Given the description of an element on the screen output the (x, y) to click on. 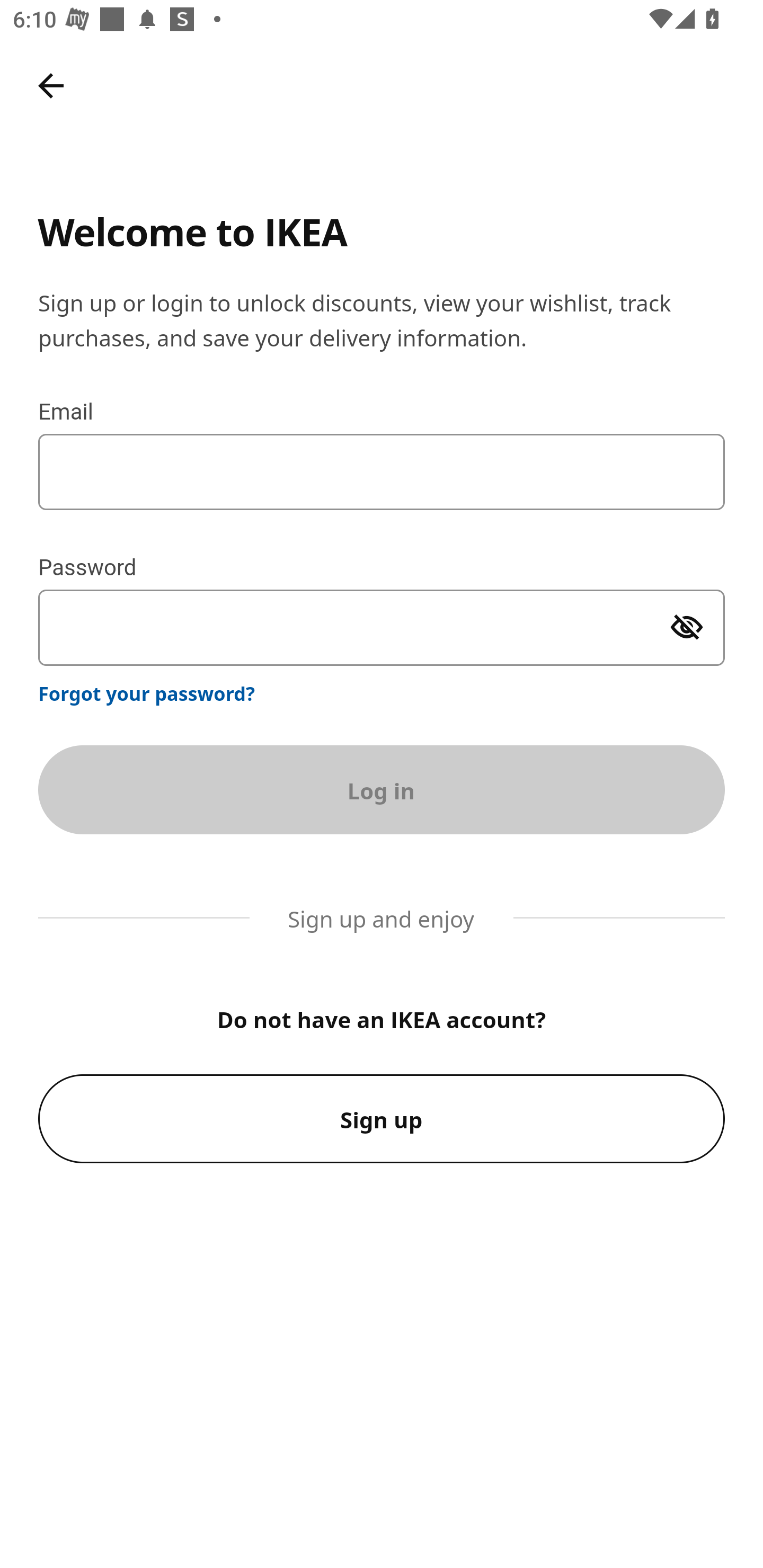
Forgot your password? (146, 692)
Log in (381, 789)
Sign up (381, 1118)
